Given the description of an element on the screen output the (x, y) to click on. 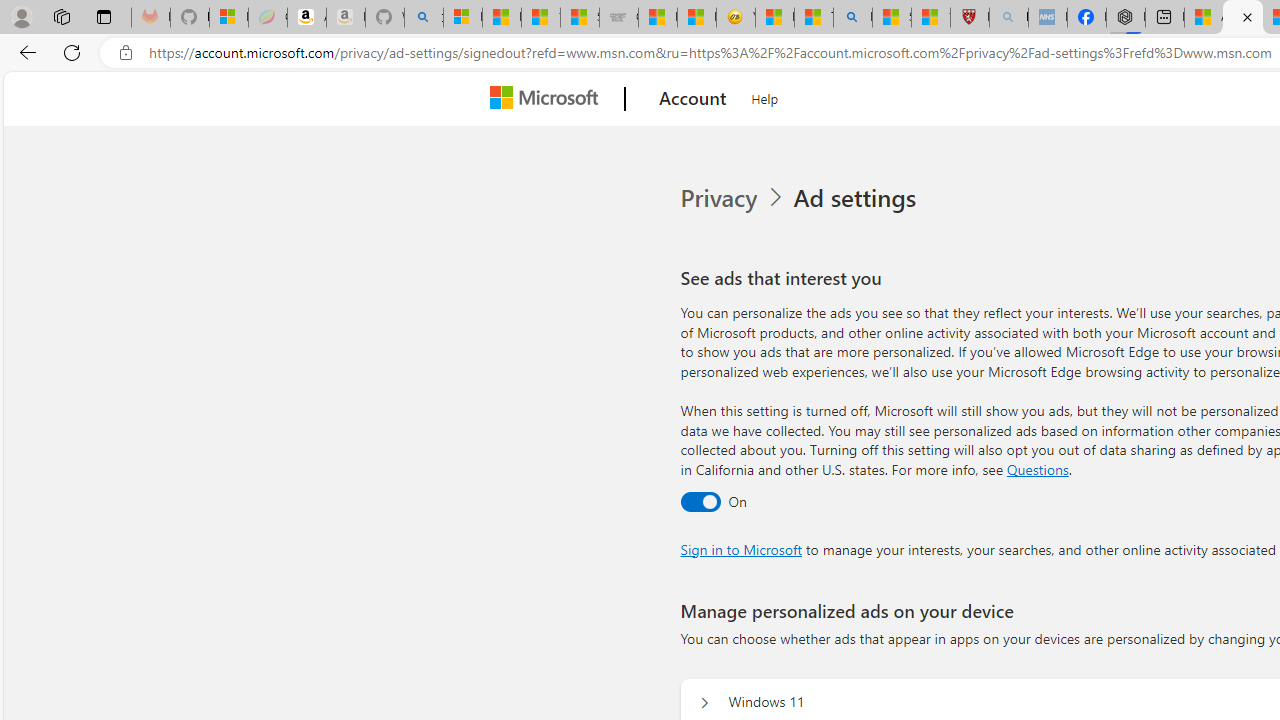
Refresh (72, 52)
list of asthma inhalers uk - Search - Sleeping (1008, 17)
View site information (125, 53)
Robert H. Shmerling, MD - Harvard Health (970, 17)
Ad settings (858, 197)
Privacy (720, 197)
Personal Profile (21, 16)
Bing (852, 17)
Go to Questions section (1037, 468)
Microsoft (548, 99)
Science - MSN (892, 17)
Sign in to Microsoft (740, 548)
